Given the description of an element on the screen output the (x, y) to click on. 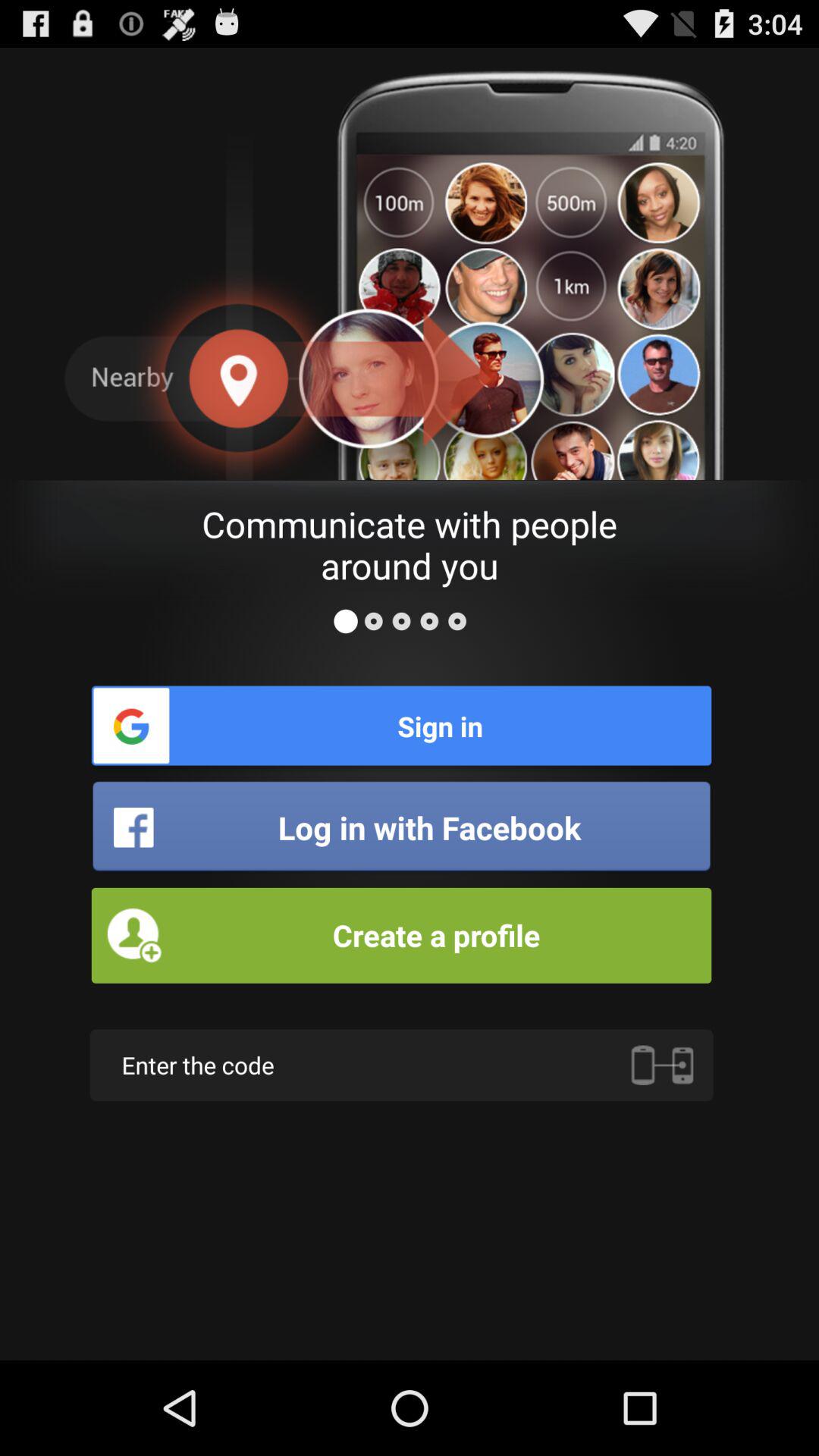
press the icon below log in with item (401, 935)
